Given the description of an element on the screen output the (x, y) to click on. 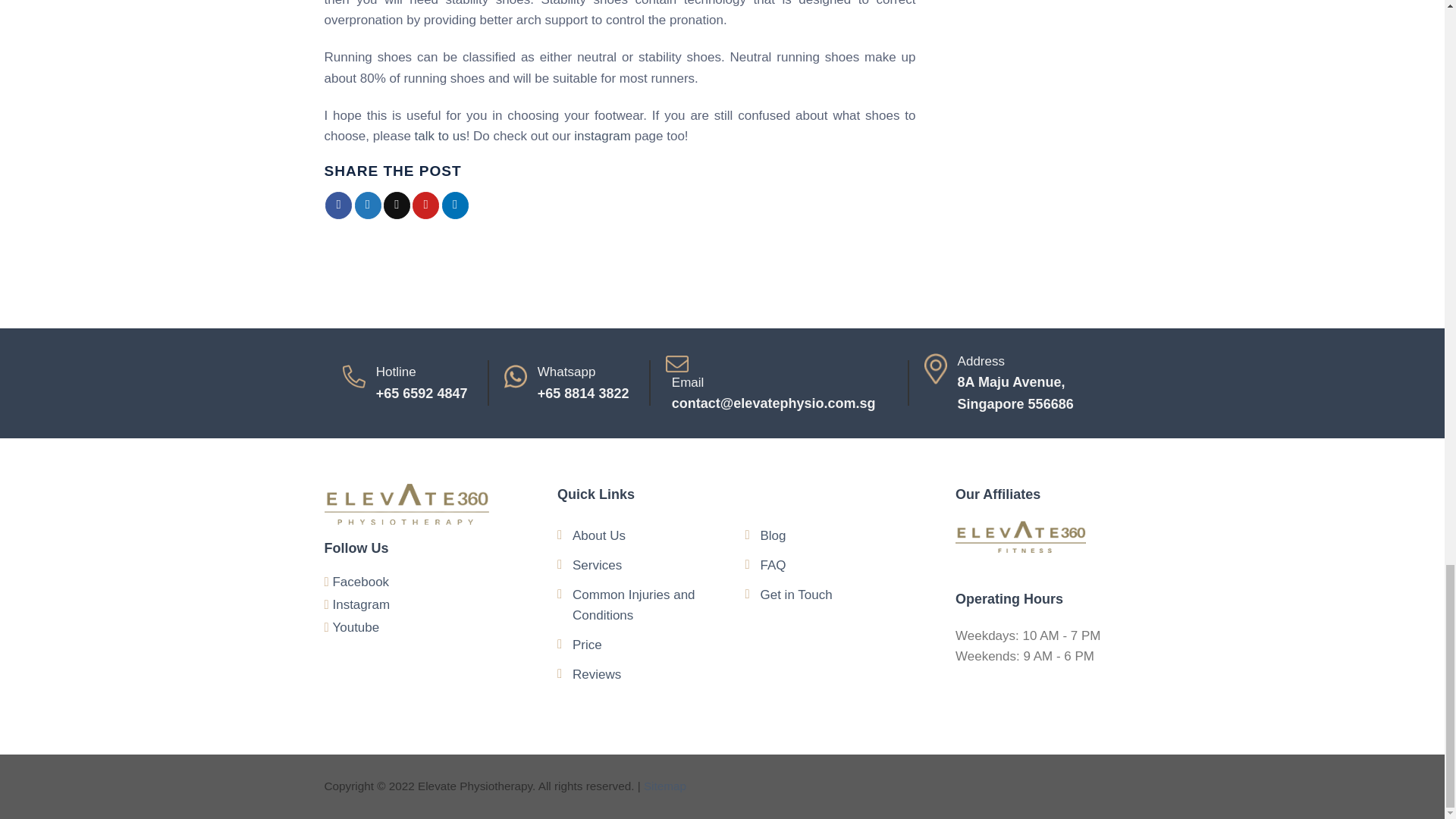
Share on Twitter (368, 205)
Share on Facebook (338, 205)
Pin on Pinterest (425, 205)
instagram (601, 135)
Share on LinkedIn (455, 205)
Email to a Friend (397, 205)
talk to us (439, 135)
